Given the description of an element on the screen output the (x, y) to click on. 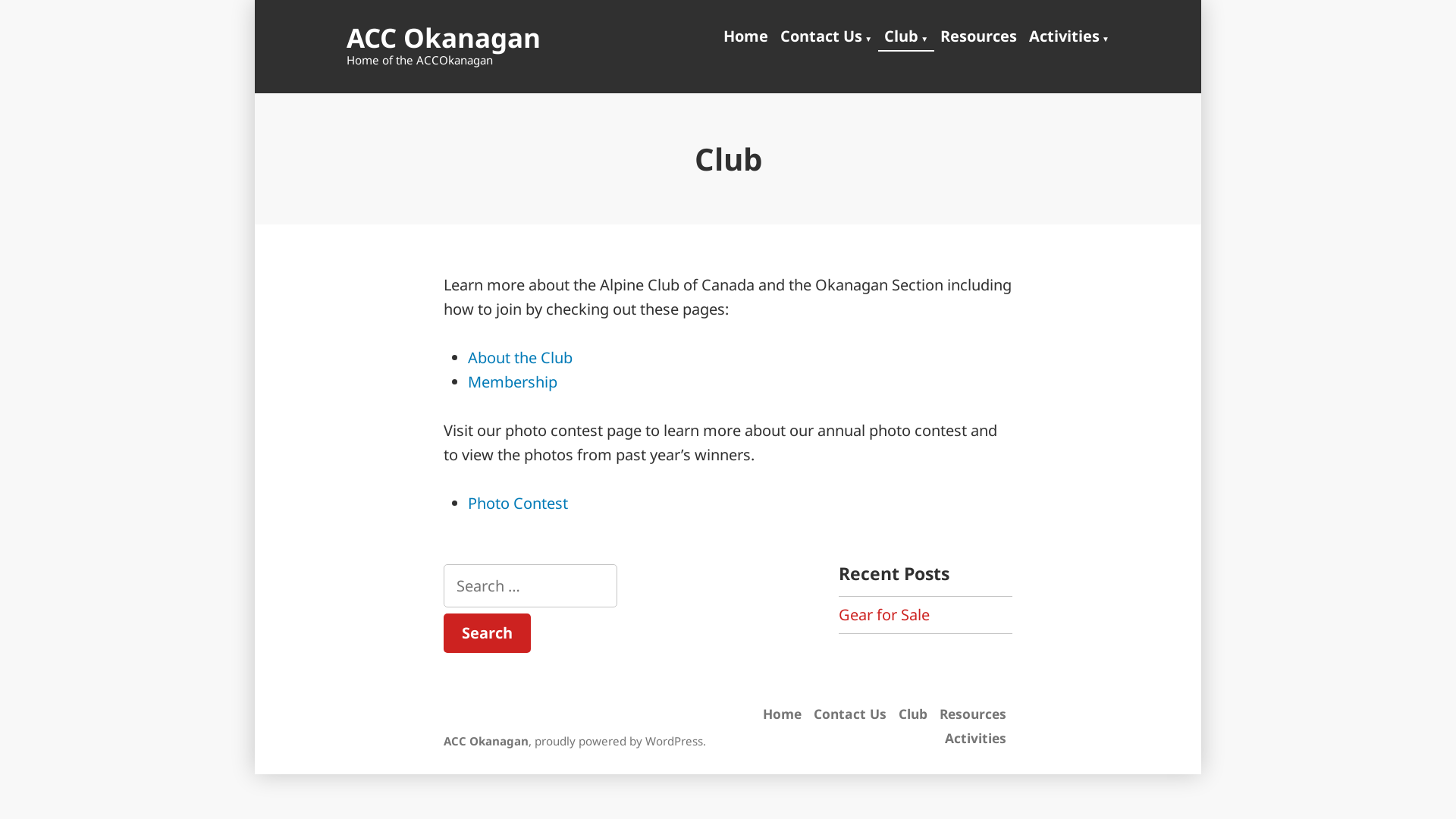
Club Element type: text (912, 713)
Resources Element type: text (978, 37)
ACC Okanagan Element type: text (443, 37)
Resources Element type: text (972, 713)
Gear for Sale Element type: text (883, 614)
Home Element type: text (748, 37)
Activities Element type: text (1065, 37)
ACC Okanagan Element type: text (485, 740)
Contact Us Element type: text (826, 37)
Contact Us Element type: text (849, 713)
Membership Element type: text (512, 381)
Home Element type: text (784, 713)
Photo Contest Element type: text (517, 502)
Activities Element type: text (975, 737)
About the Club Element type: text (519, 357)
proudly powered by WordPress Element type: text (618, 740)
Search Element type: text (486, 632)
Club Element type: text (906, 37)
